Given the description of an element on the screen output the (x, y) to click on. 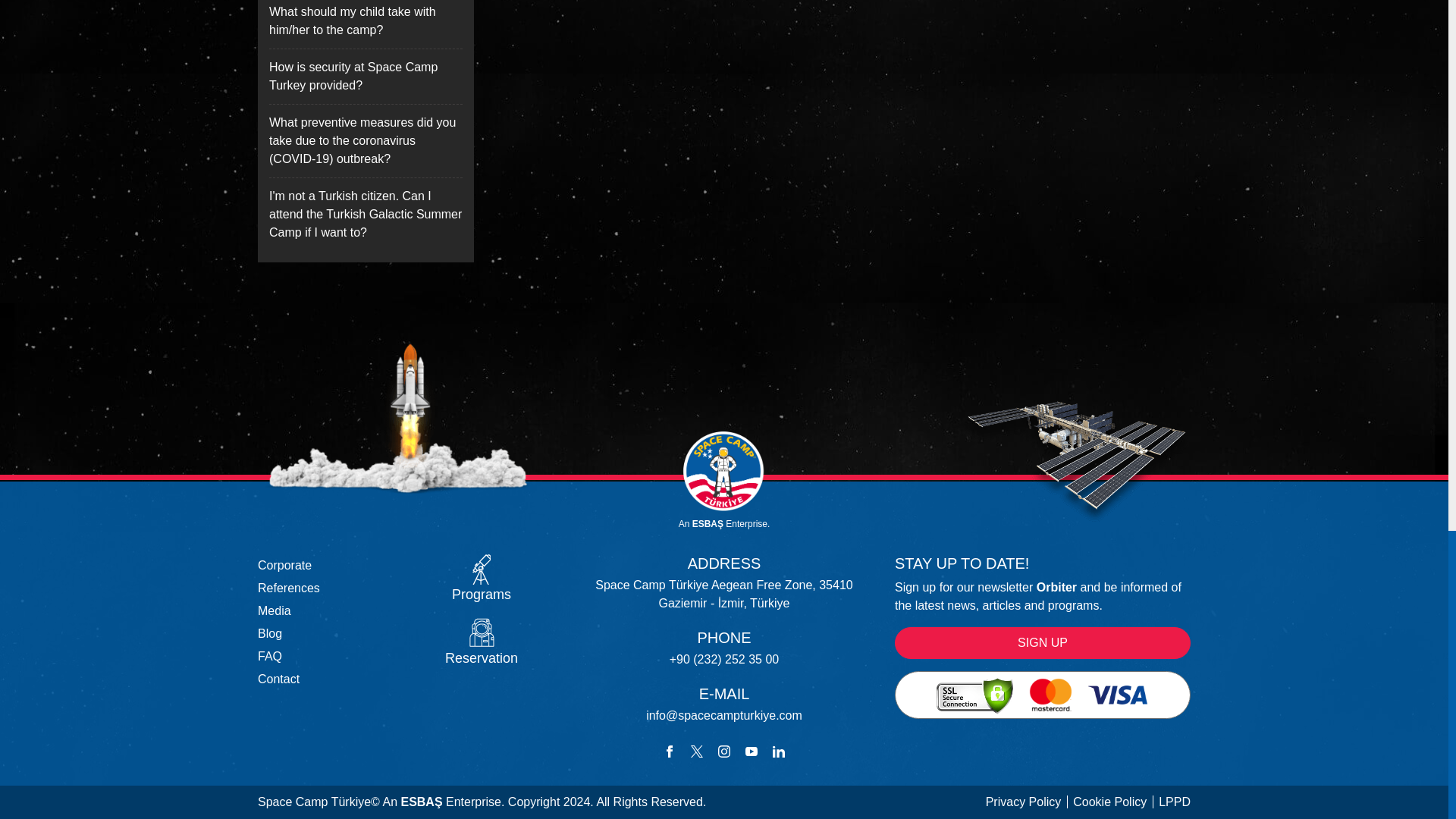
FAQ (269, 656)
Blog (269, 633)
LPPD (1169, 802)
Media (274, 610)
Privacy Policy (1023, 802)
Contact (278, 678)
References (288, 587)
Corporate (284, 564)
Cookie Policy (1104, 802)
